Given the description of an element on the screen output the (x, y) to click on. 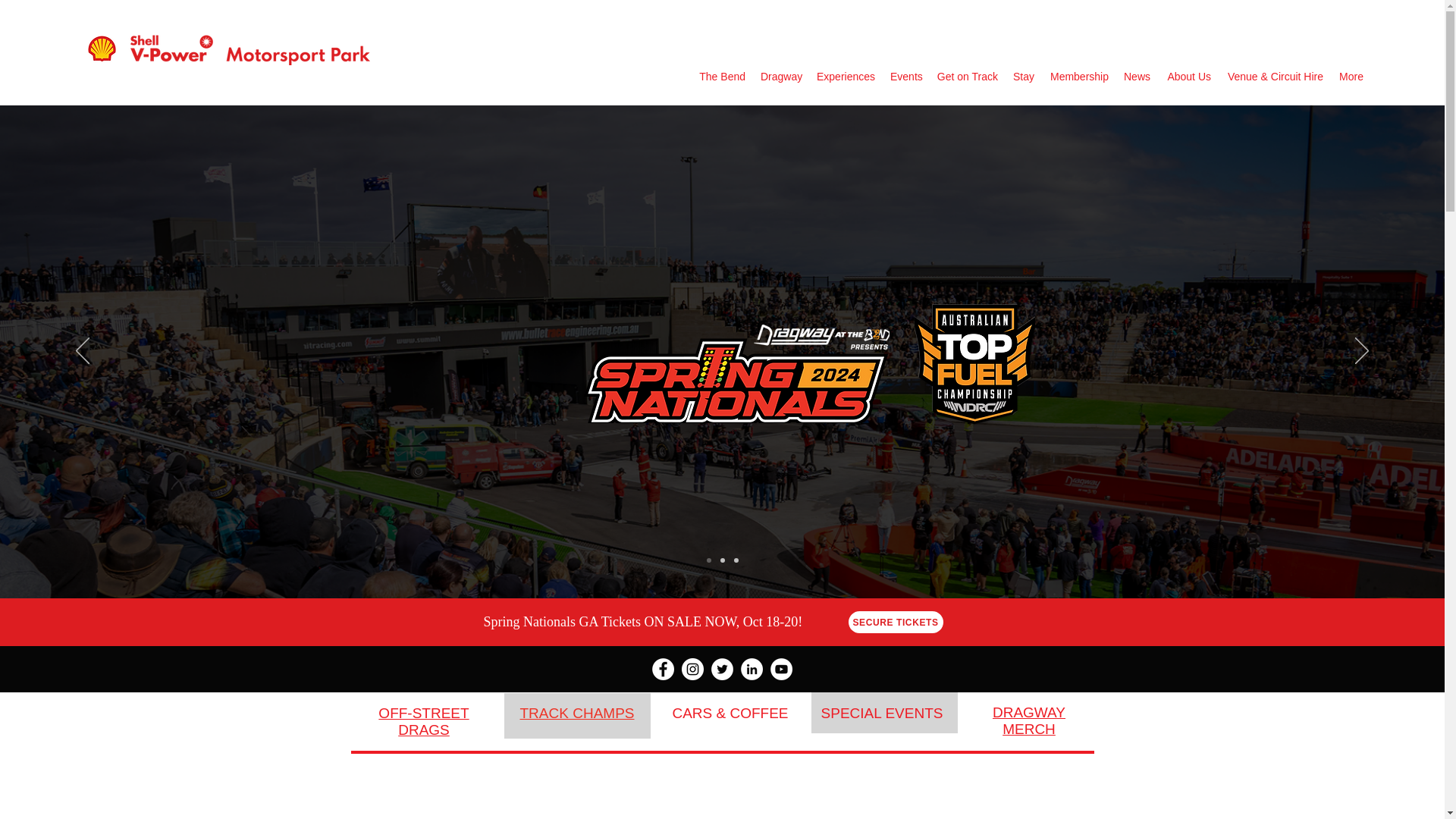
Get on Track (967, 76)
Experiences (845, 76)
About Us (1187, 76)
News (1136, 76)
The Bend (721, 76)
Membership (1078, 76)
RGB Shell V-Power Motorsport Park horizo (228, 50)
Stay (1023, 76)
Dragway (780, 76)
